Given the description of an element on the screen output the (x, y) to click on. 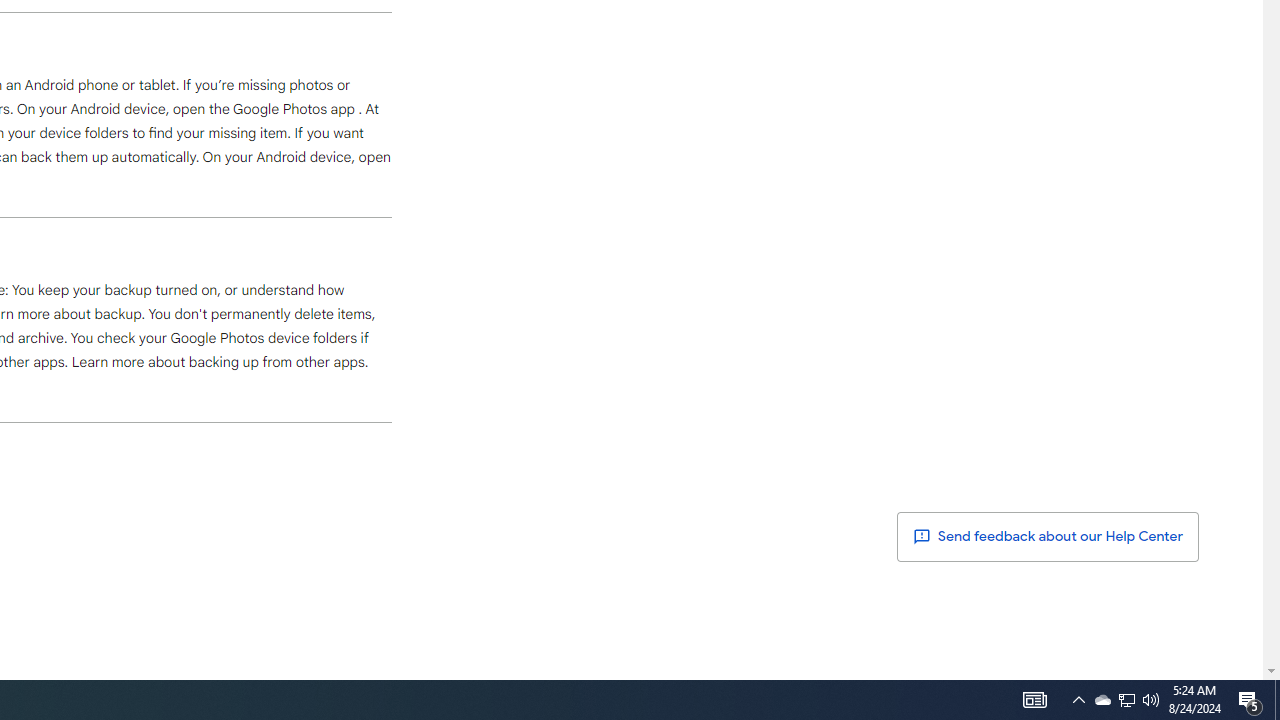
 Send feedback about our Help Center (1048, 536)
